Given the description of an element on the screen output the (x, y) to click on. 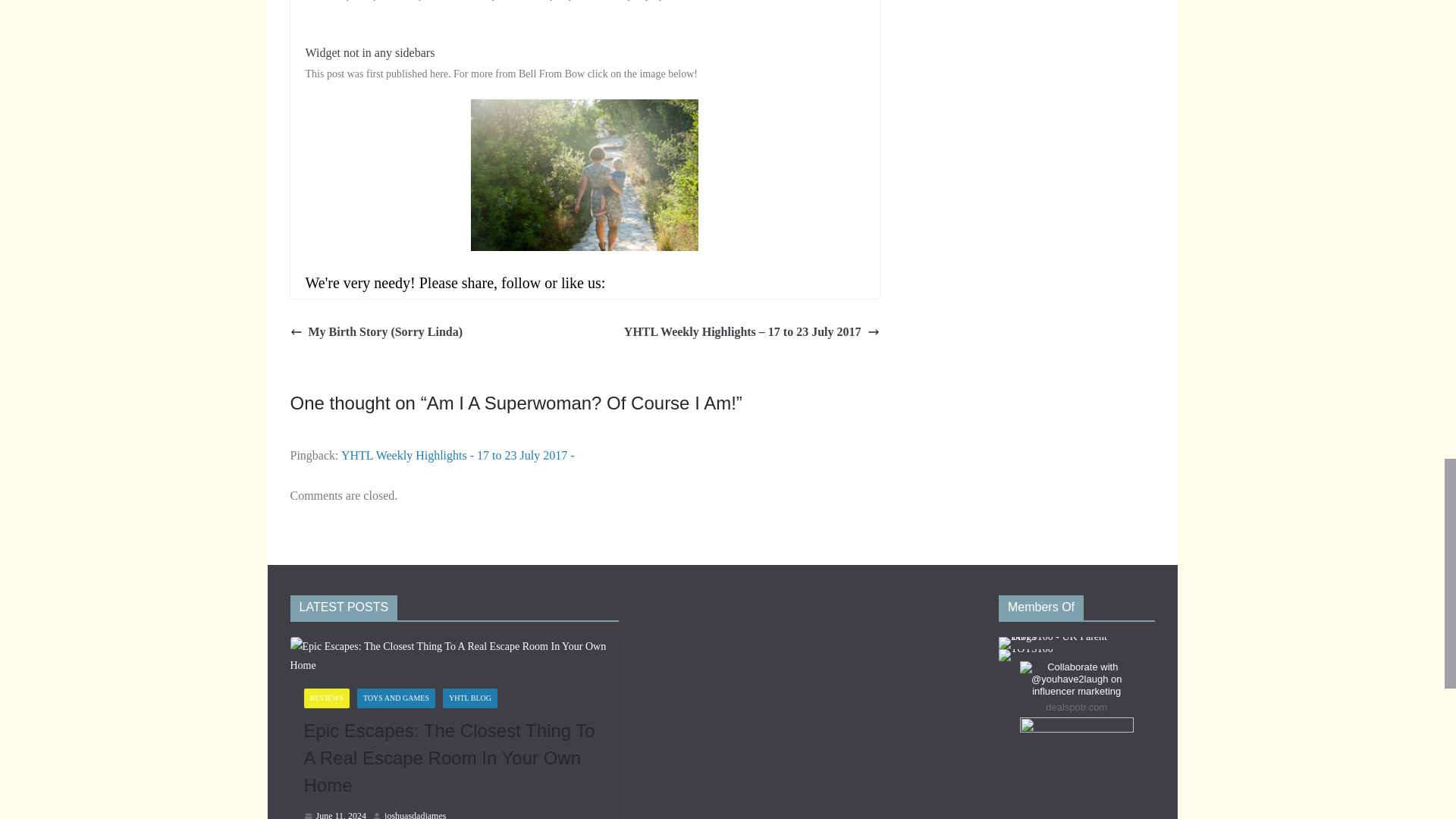
10:15 pm (334, 813)
joshuasdadjames (414, 813)
YHTL Weekly Highlights - 17 to 23 July 2017 - (457, 454)
